Given the description of an element on the screen output the (x, y) to click on. 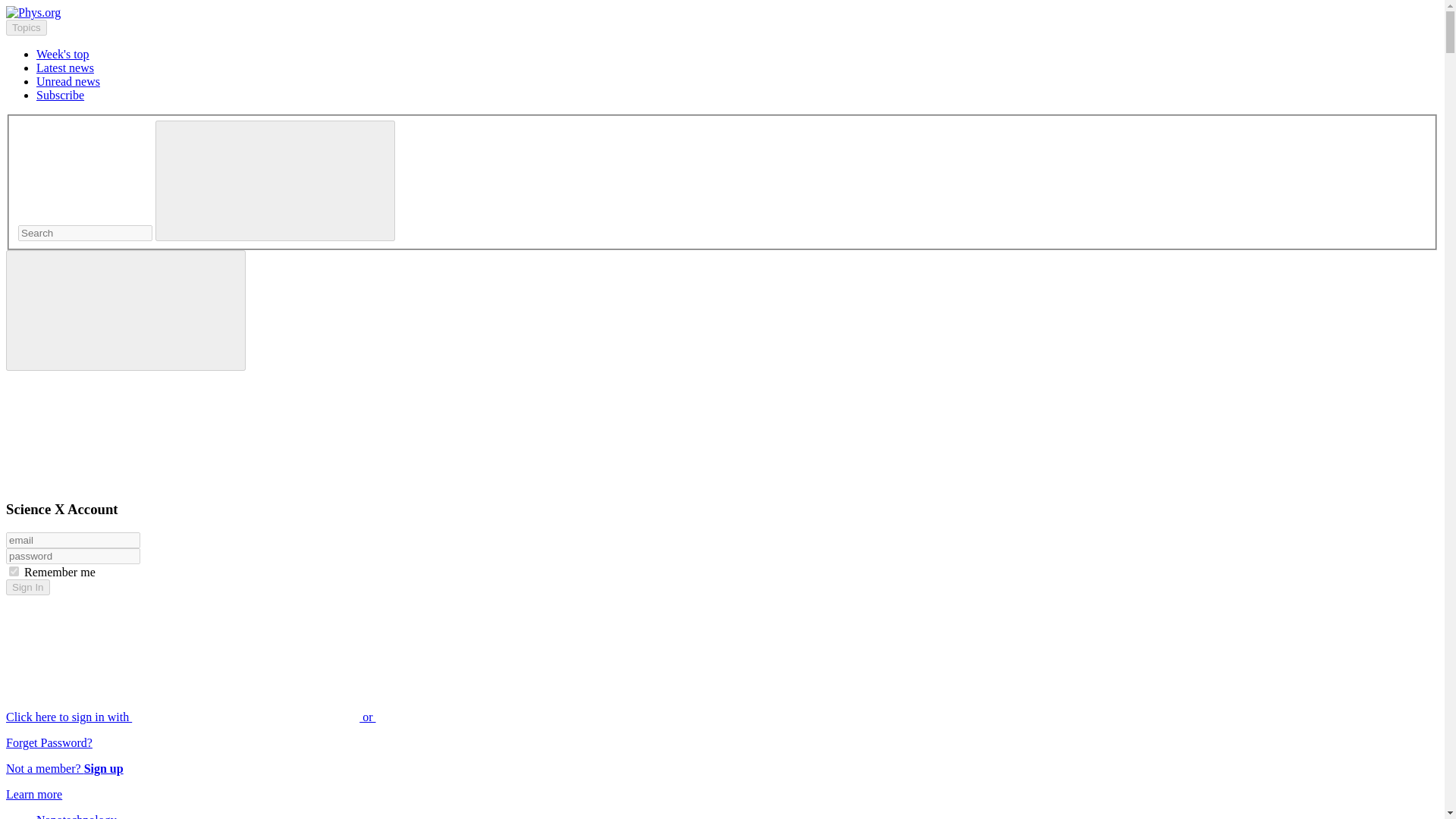
Latest news (65, 67)
Week's top (62, 53)
Nanotechnology (76, 816)
Forget Password? (49, 742)
Learn more (33, 793)
Not a member? Sign up (64, 768)
Subscribe (60, 94)
Sign In (27, 587)
Unread news (68, 81)
Topics (25, 27)
on (13, 571)
Click here to sign in with or (304, 716)
